Given the description of an element on the screen output the (x, y) to click on. 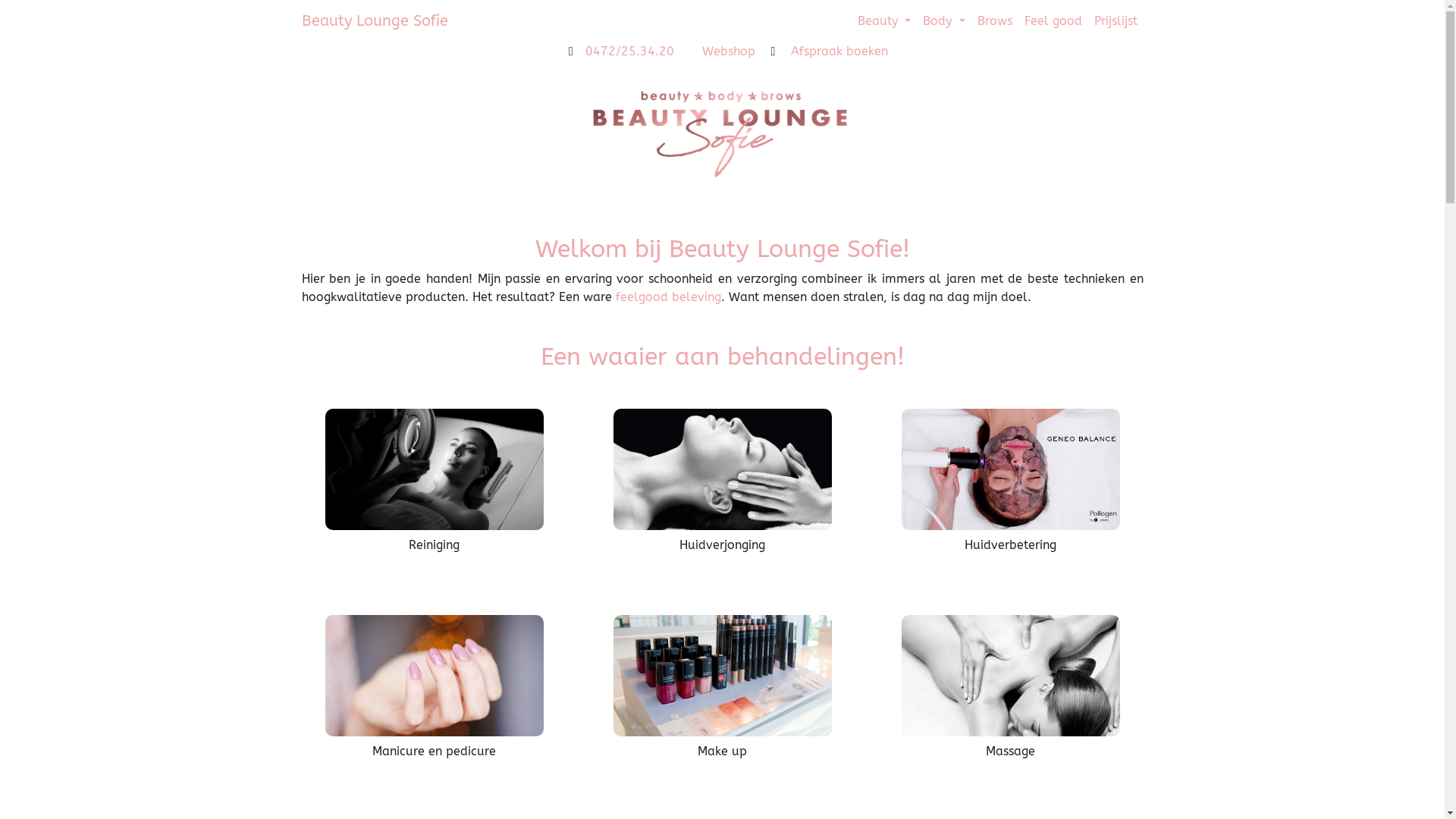
Prijslijst Element type: text (1114, 21)
Beauty Lounge Sofie Element type: text (374, 21)
Feel good Element type: text (1052, 21)
Beauty Element type: text (883, 21)
0472/25.34.20 Element type: text (615, 50)
Afspraak boeken Element type: text (823, 50)
Webshop Element type: text (715, 50)
Brows Element type: text (993, 21)
Body Element type: text (943, 21)
